Given the description of an element on the screen output the (x, y) to click on. 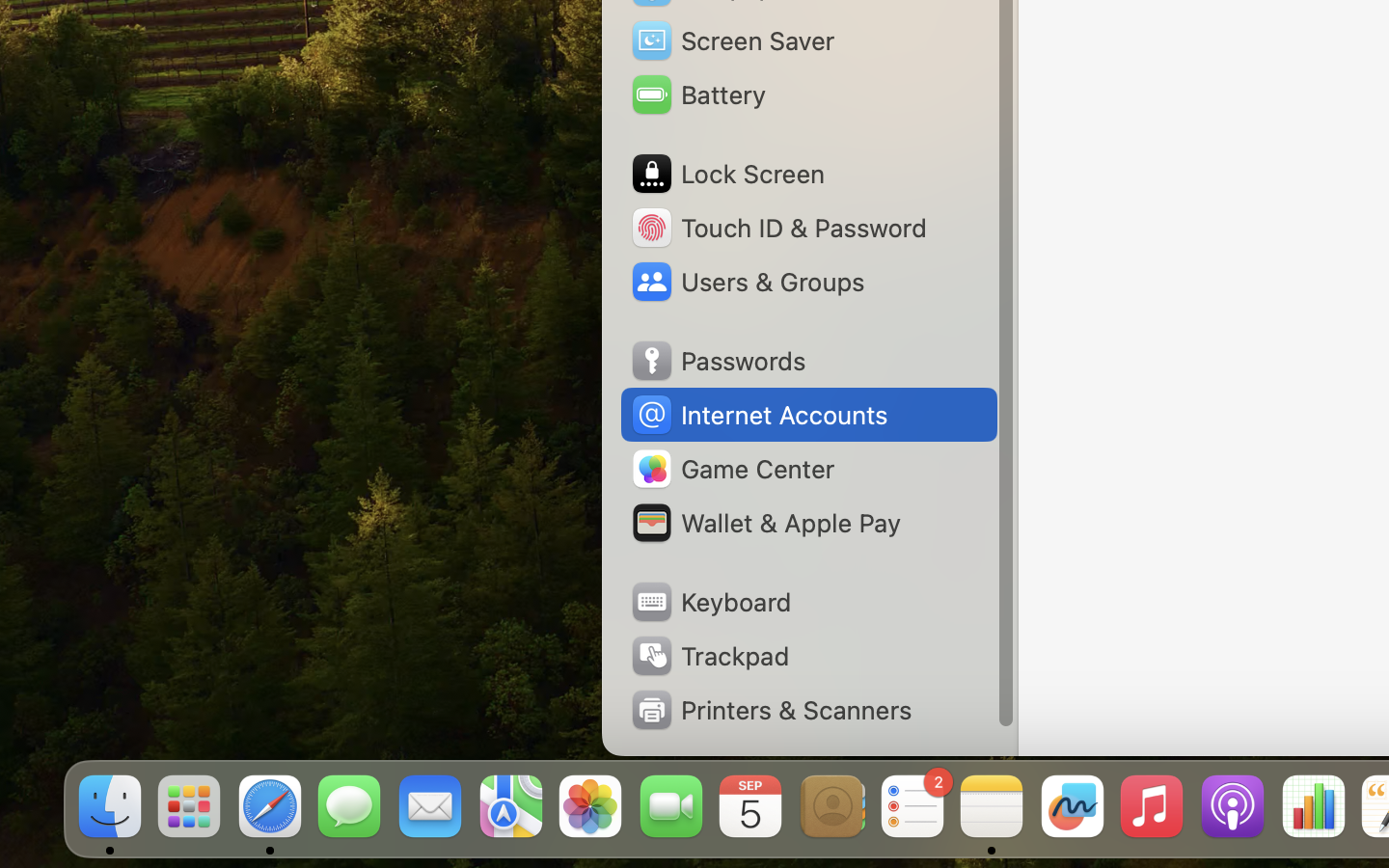
Battery Element type: AXStaticText (696, 94)
Game Center Element type: AXStaticText (731, 468)
